Given the description of an element on the screen output the (x, y) to click on. 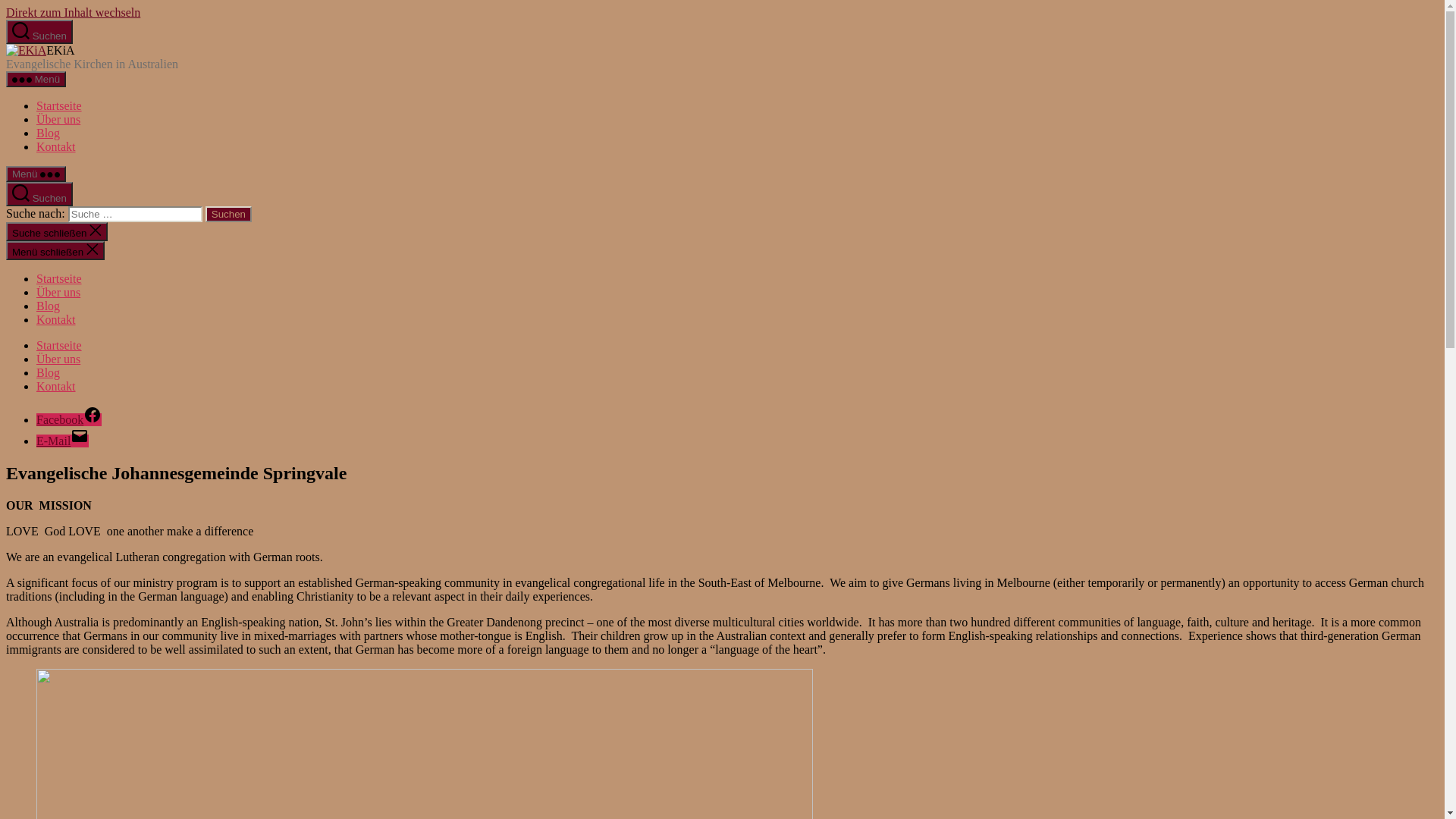
Suchen Element type: text (228, 214)
Blog Element type: text (47, 132)
Kontakt Element type: text (55, 319)
Direkt zum Inhalt wechseln Element type: text (73, 12)
Startseite Element type: text (58, 105)
Blog Element type: text (47, 372)
Suchen Element type: text (39, 31)
Startseite Element type: text (58, 344)
Startseite Element type: text (58, 278)
Suchen Element type: text (39, 194)
E-Mail Element type: text (62, 440)
Kontakt Element type: text (55, 146)
Facebook Element type: text (68, 419)
Kontakt Element type: text (55, 385)
Blog Element type: text (47, 305)
